Given the description of an element on the screen output the (x, y) to click on. 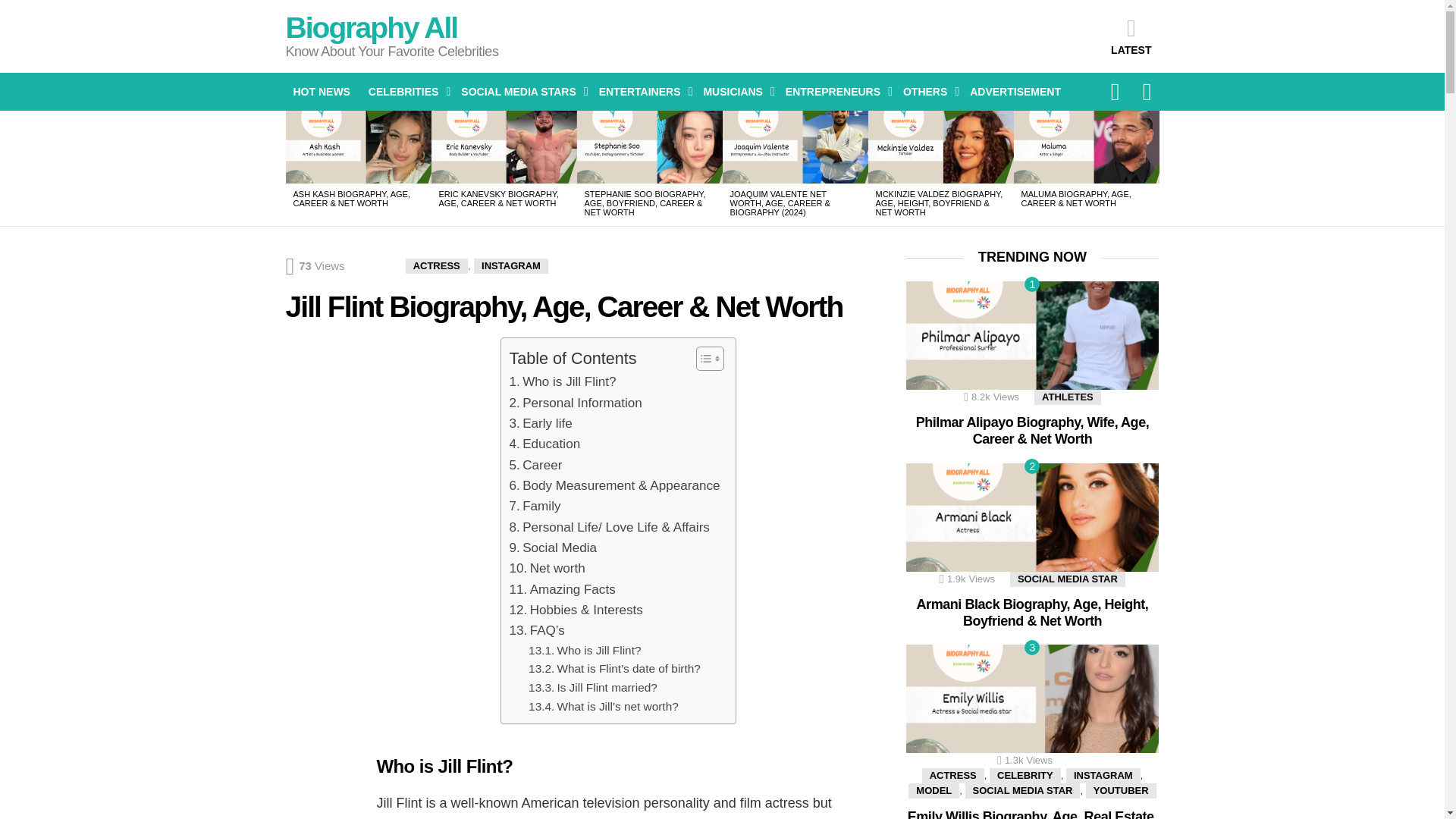
OTHERS (927, 91)
ENTERTAINERS (642, 91)
Biography All (371, 27)
FOLLOW US (1114, 91)
Education (543, 444)
SEARCH (1146, 91)
ENTREPRENEURS (834, 91)
HOT NEWS (320, 91)
SOCIAL MEDIA STARS (520, 91)
Personal Information (575, 403)
CELEBRITIES (406, 91)
MUSICIANS (734, 91)
ADVERTISEMENT (1015, 91)
